Given the description of an element on the screen output the (x, y) to click on. 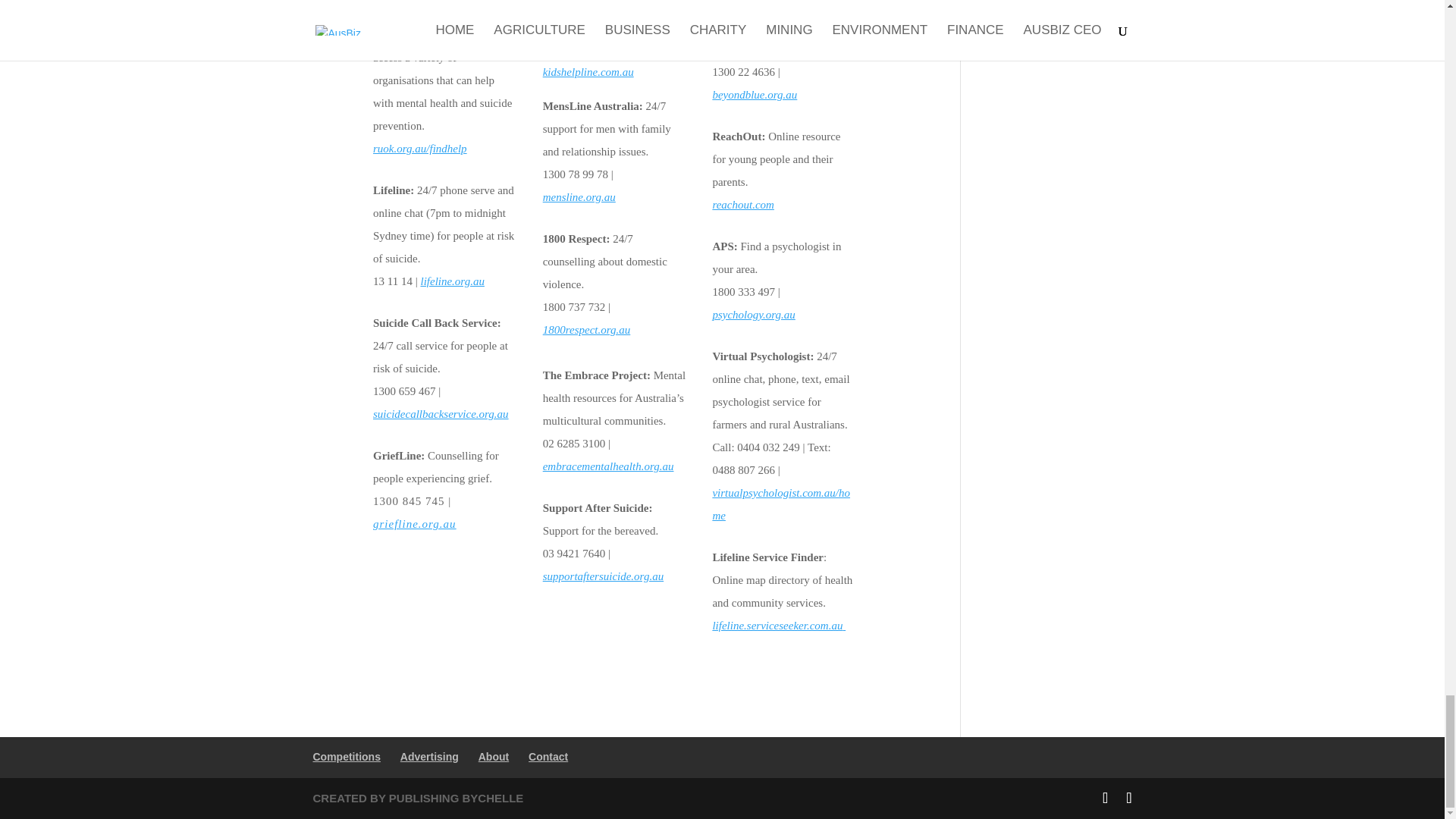
kidshelpline.com.au (588, 71)
suicidecallbackservice.org.au (440, 413)
lifeline.org.au (451, 281)
griefline.org.au (414, 523)
mensline.org.au (579, 196)
